Given the description of an element on the screen output the (x, y) to click on. 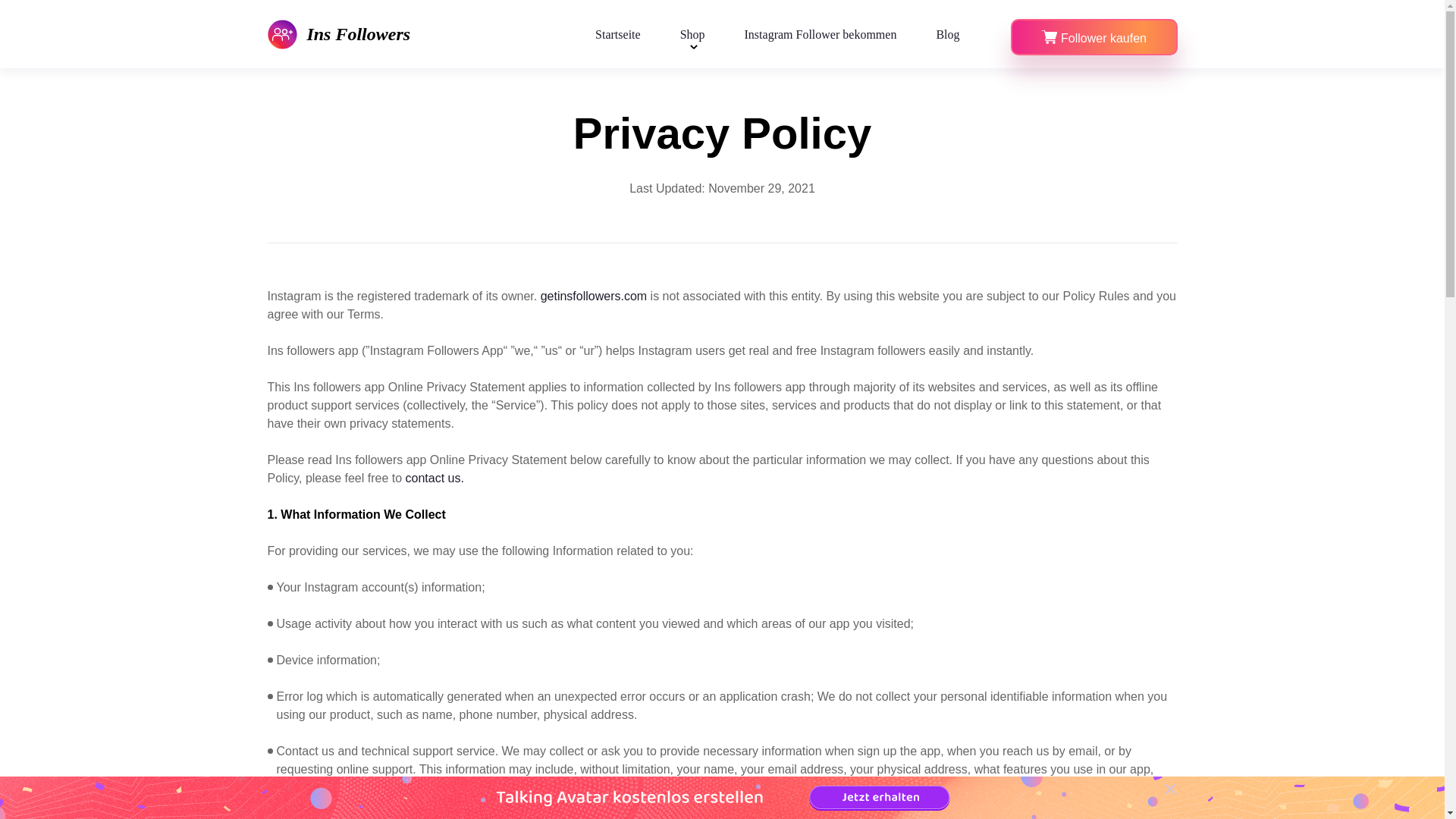
Shop (691, 33)
Instagram Follower bekommen (820, 33)
contact us. (435, 477)
Blog (947, 33)
Follower kaufen (1093, 36)
getinsfollowers.com (593, 295)
Ins Followers (338, 33)
Startseite (617, 33)
